Given the description of an element on the screen output the (x, y) to click on. 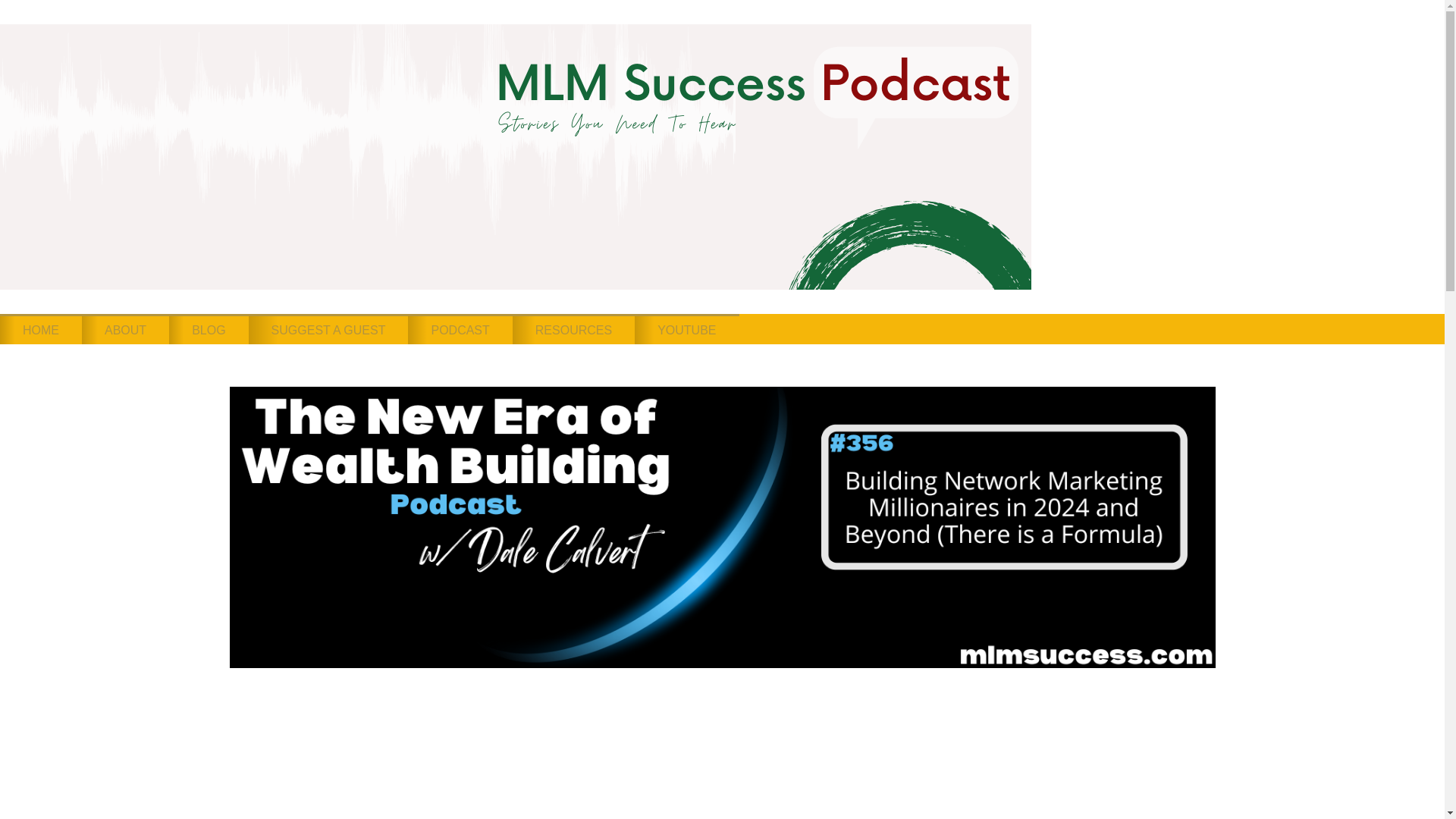
HOME (40, 328)
PODCAST (459, 328)
RESOURCES (573, 328)
YOUTUBE (686, 328)
SUGGEST A GUEST (328, 328)
BLOG (207, 328)
ABOUT (124, 328)
